Given the description of an element on the screen output the (x, y) to click on. 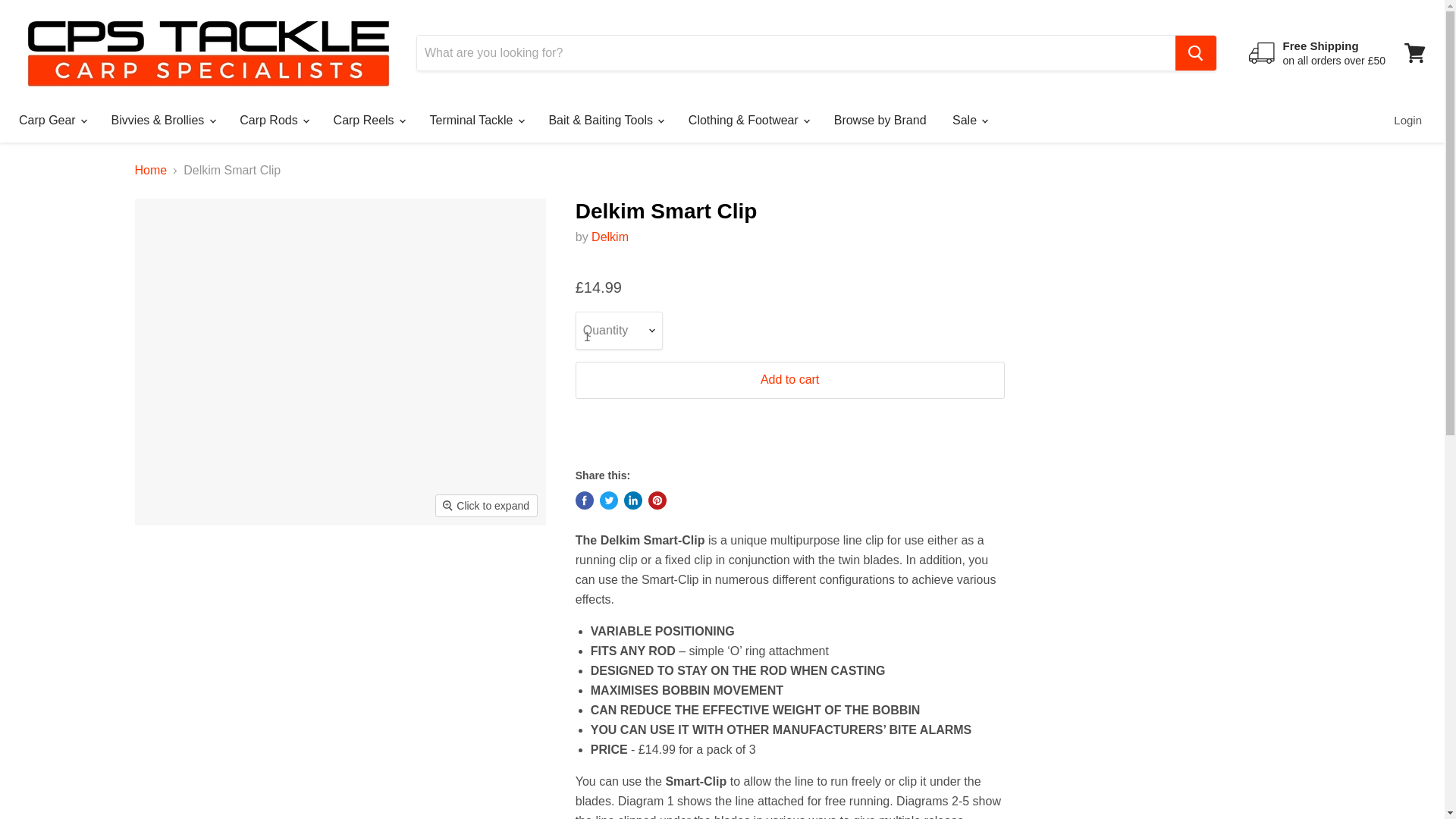
Delkim (609, 236)
View cart (1414, 53)
Carp Gear (51, 120)
Carp Rods (273, 120)
Carp Reels (367, 120)
Terminal Tackle (476, 120)
